Given the description of an element on the screen output the (x, y) to click on. 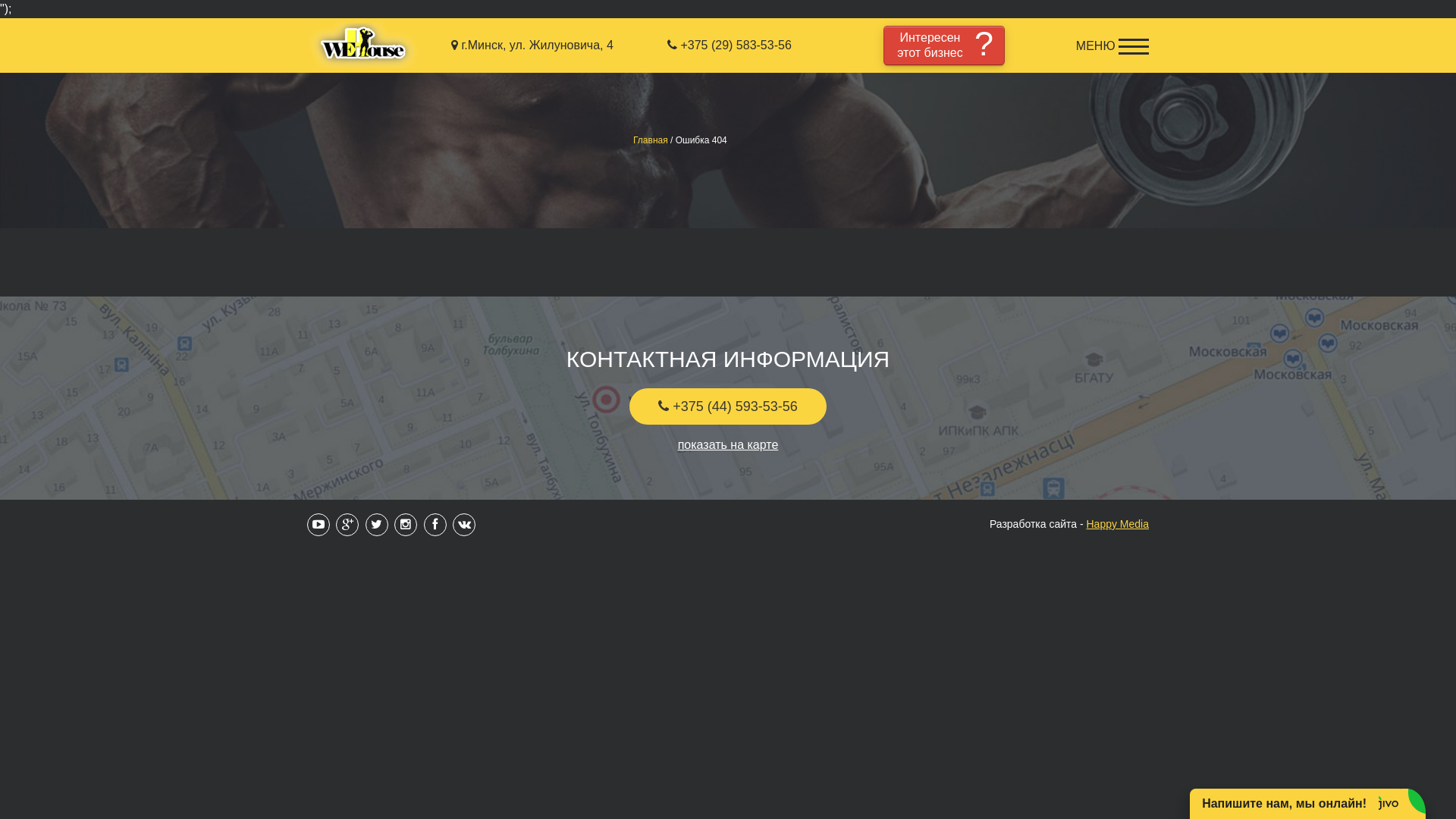
+375 (29) 583-53-56 Element type: text (729, 44)
+375 (44) 593-53-56 Element type: text (727, 406)
Happy Media Element type: text (1116, 523)
